Given the description of an element on the screen output the (x, y) to click on. 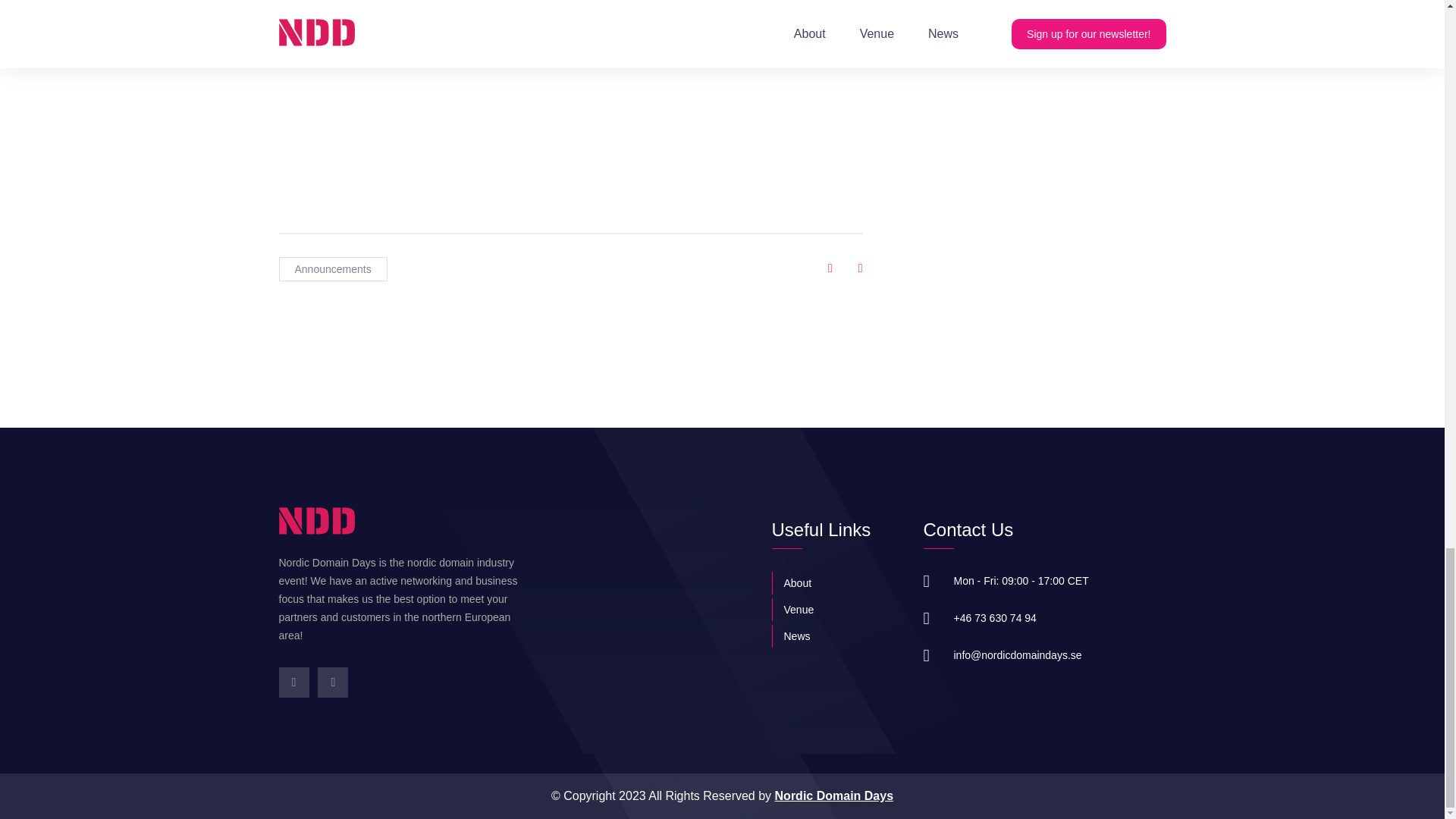
About (836, 582)
Announcements (333, 269)
Venue (836, 609)
News (836, 635)
Nordic Domain Days (833, 795)
